Given the description of an element on the screen output the (x, y) to click on. 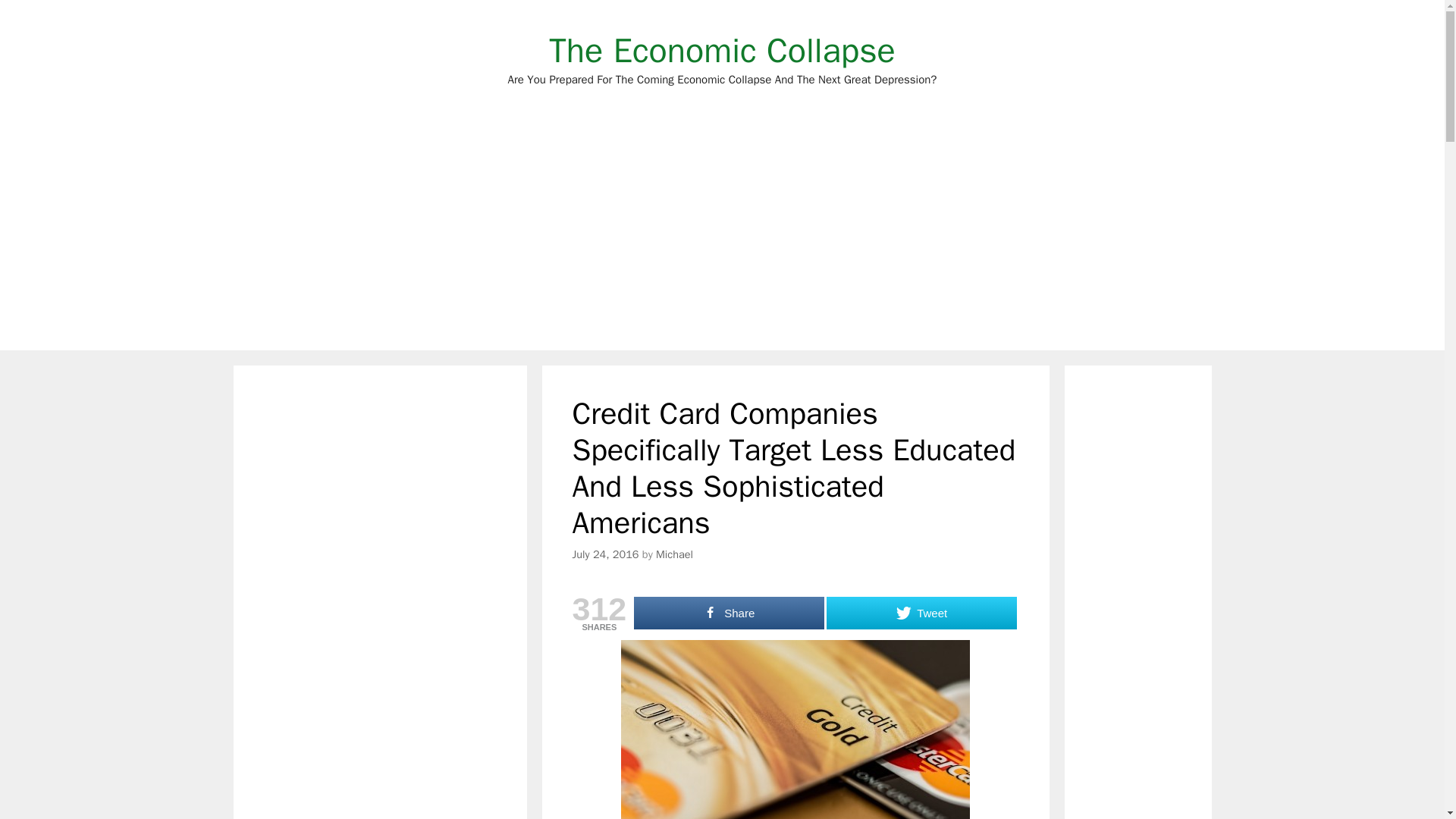
View all posts by Michael (674, 554)
The Economic Collapse (721, 50)
Tweet (921, 613)
Share (728, 613)
9:34 pm (605, 554)
July 24, 2016 (605, 554)
Michael (674, 554)
